Given the description of an element on the screen output the (x, y) to click on. 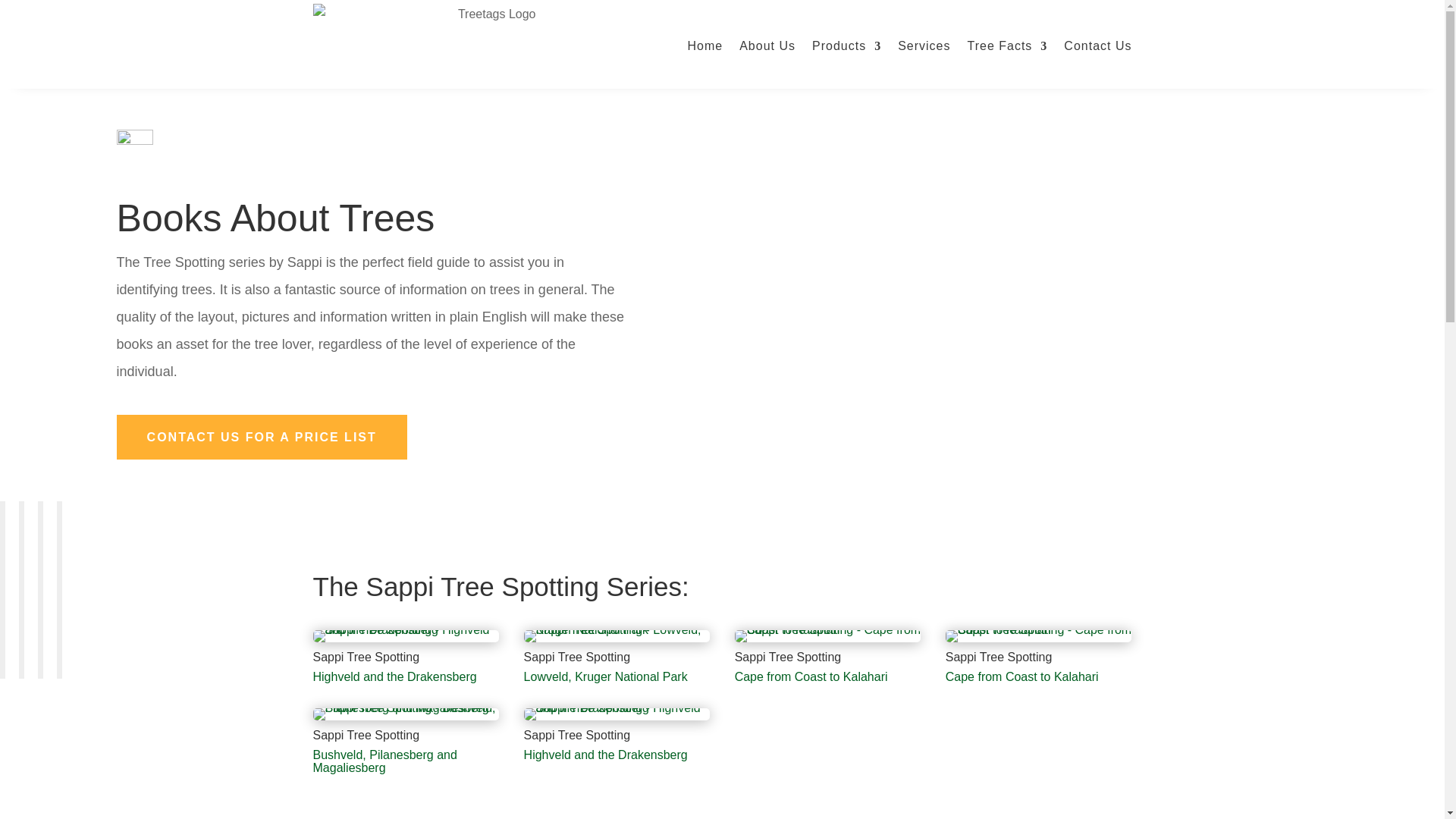
Sappi Tree Spotting (617, 719)
Sappi Tree Spotting (1038, 641)
Sappi Tree Spotting (828, 641)
Sappi Tree Spotting (617, 641)
Sappi Tree Spotting (406, 641)
Tree Facts (1006, 46)
Sappi Tree Spotting (406, 719)
